Given the description of an element on the screen output the (x, y) to click on. 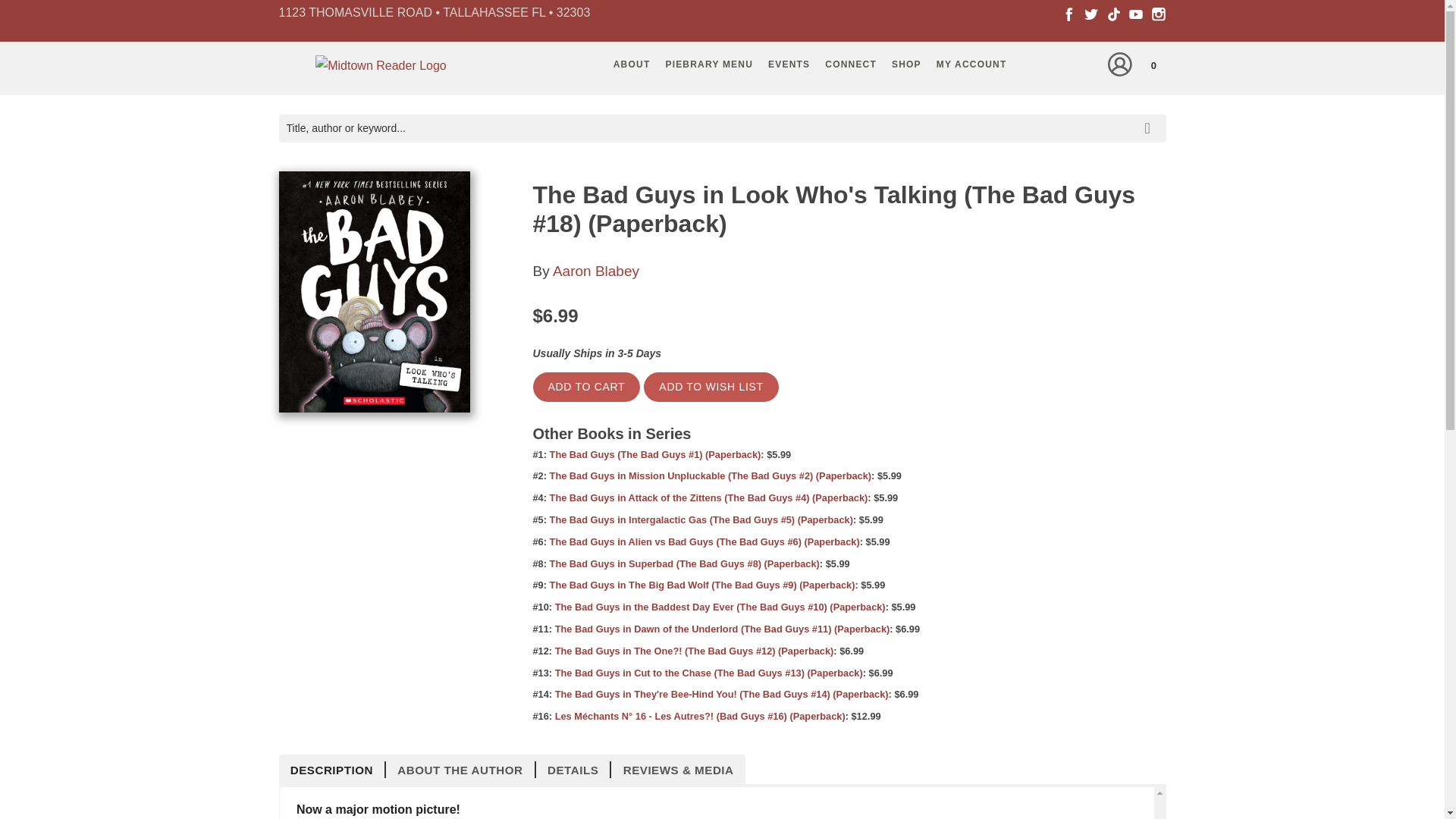
CONNECT (849, 64)
Add to Wish List (710, 387)
Add to Wish List (710, 387)
Aaron Blabey (596, 270)
MY ACCOUNT (971, 64)
Title, author or keyword... (722, 128)
Partner with Midtown Reader! (849, 64)
search (1150, 116)
ABOUT (631, 64)
